Given the description of an element on the screen output the (x, y) to click on. 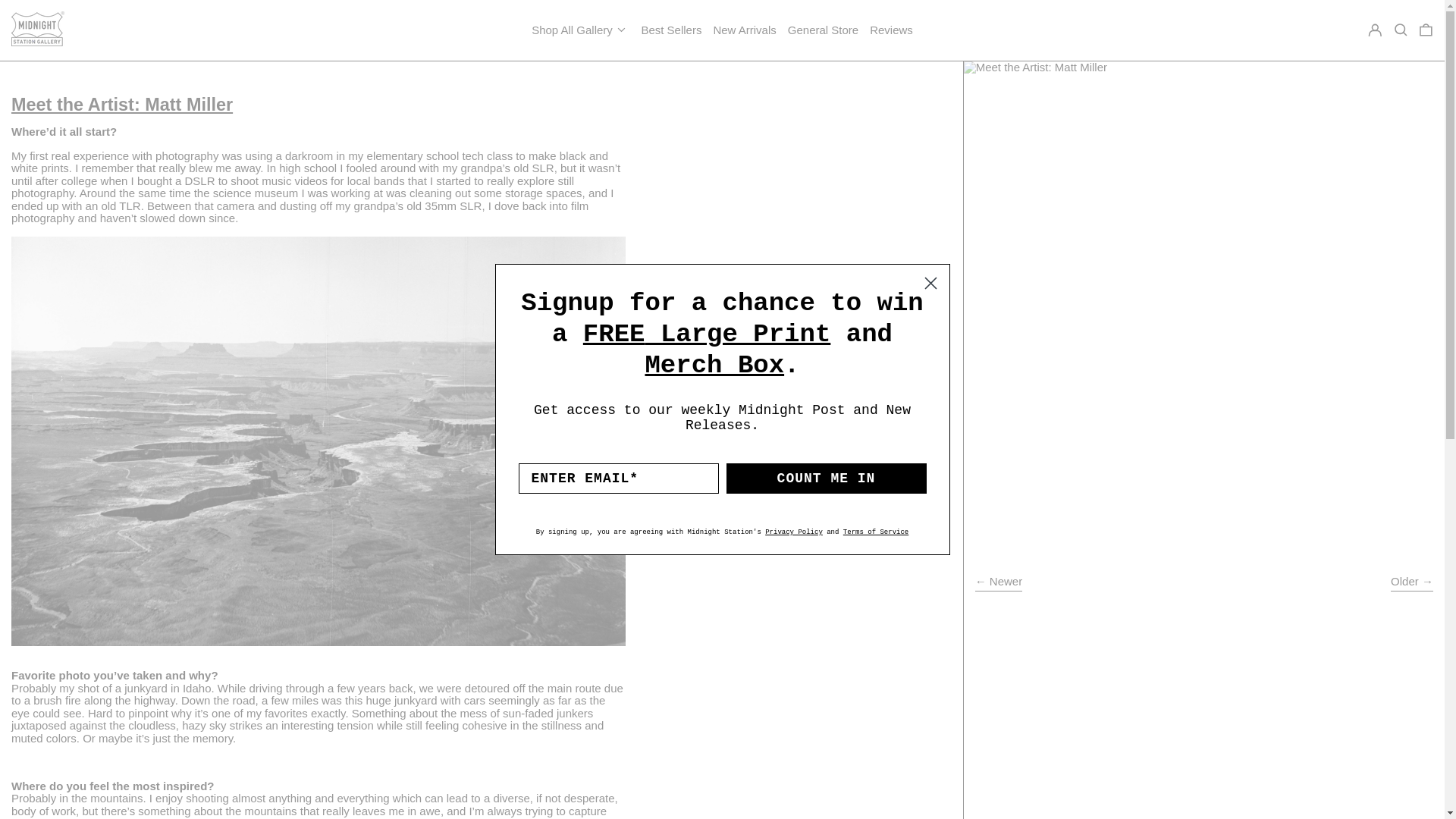
Close dialog 1 (930, 283)
Older (1411, 583)
Newer (999, 583)
